Given the description of an element on the screen output the (x, y) to click on. 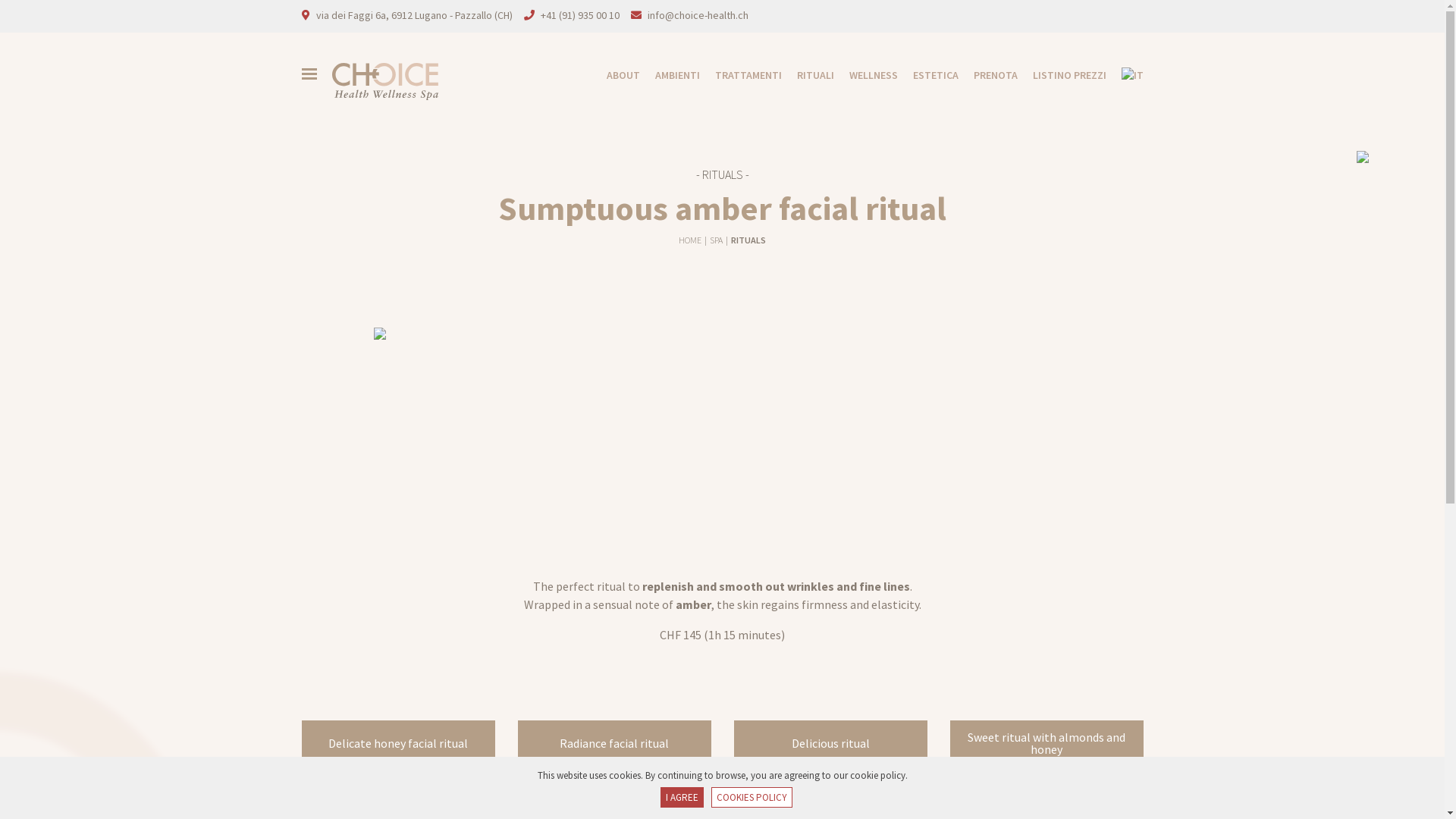
PRENOTA Element type: text (987, 75)
Delicious ritual Element type: text (830, 742)
RITUALS Element type: text (748, 239)
RITUALI Element type: text (807, 75)
AMBIENTI Element type: text (669, 75)
WELLNESS Element type: text (865, 75)
ABOUT Element type: text (615, 75)
COOKIES POLICY Element type: text (751, 797)
SPA Element type: text (716, 239)
+41 (91) 935 00 10 Element type: text (578, 14)
info@choice-health.ch Element type: text (697, 14)
Radiance facial ritual Element type: text (613, 742)
Delicate honey facial ritual Element type: text (398, 742)
ESTETICA Element type: text (927, 75)
HOME Element type: text (690, 239)
TRATTAMENTI Element type: text (740, 75)
via dei Faggi 6a, 6912 Lugano - Pazzallo (CH) Element type: text (413, 14)
I AGREE Element type: text (680, 797)
Sweet ritual with almonds and honey Element type: text (1045, 742)
LISTINO PREZZI Element type: text (1061, 75)
